Given the description of an element on the screen output the (x, y) to click on. 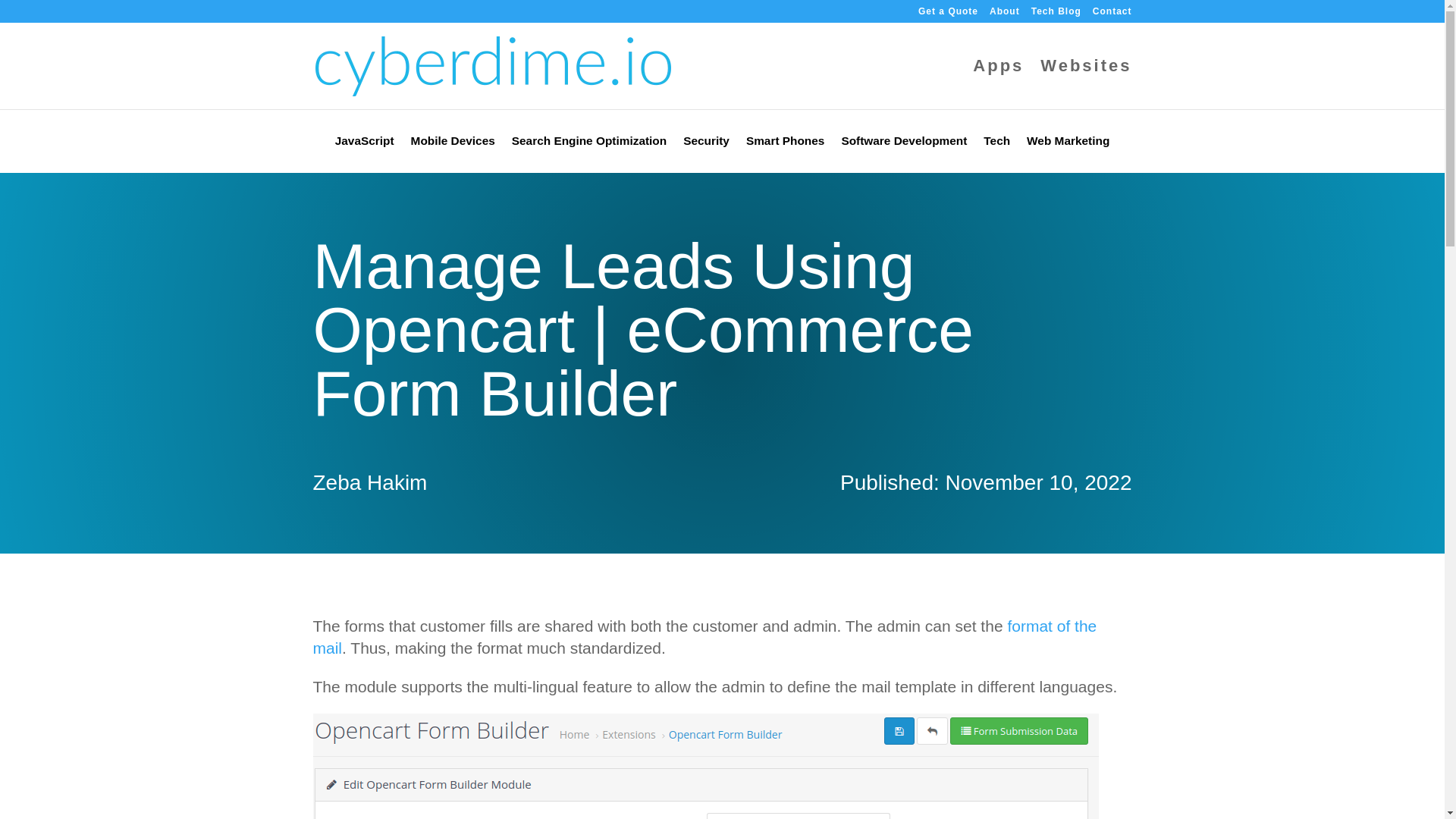
Security (705, 143)
Software Development (903, 143)
Web Marketing (1067, 143)
Get a Quote (948, 14)
Tech Blog (1055, 14)
format of the mail (704, 636)
Contact (1112, 14)
Websites (1086, 84)
About (1005, 14)
Smart Phones (785, 143)
Search Engine Optimization (589, 143)
Mobile Devices (452, 143)
Apps (997, 84)
Tech (997, 143)
JavaScript (364, 143)
